Given the description of an element on the screen output the (x, y) to click on. 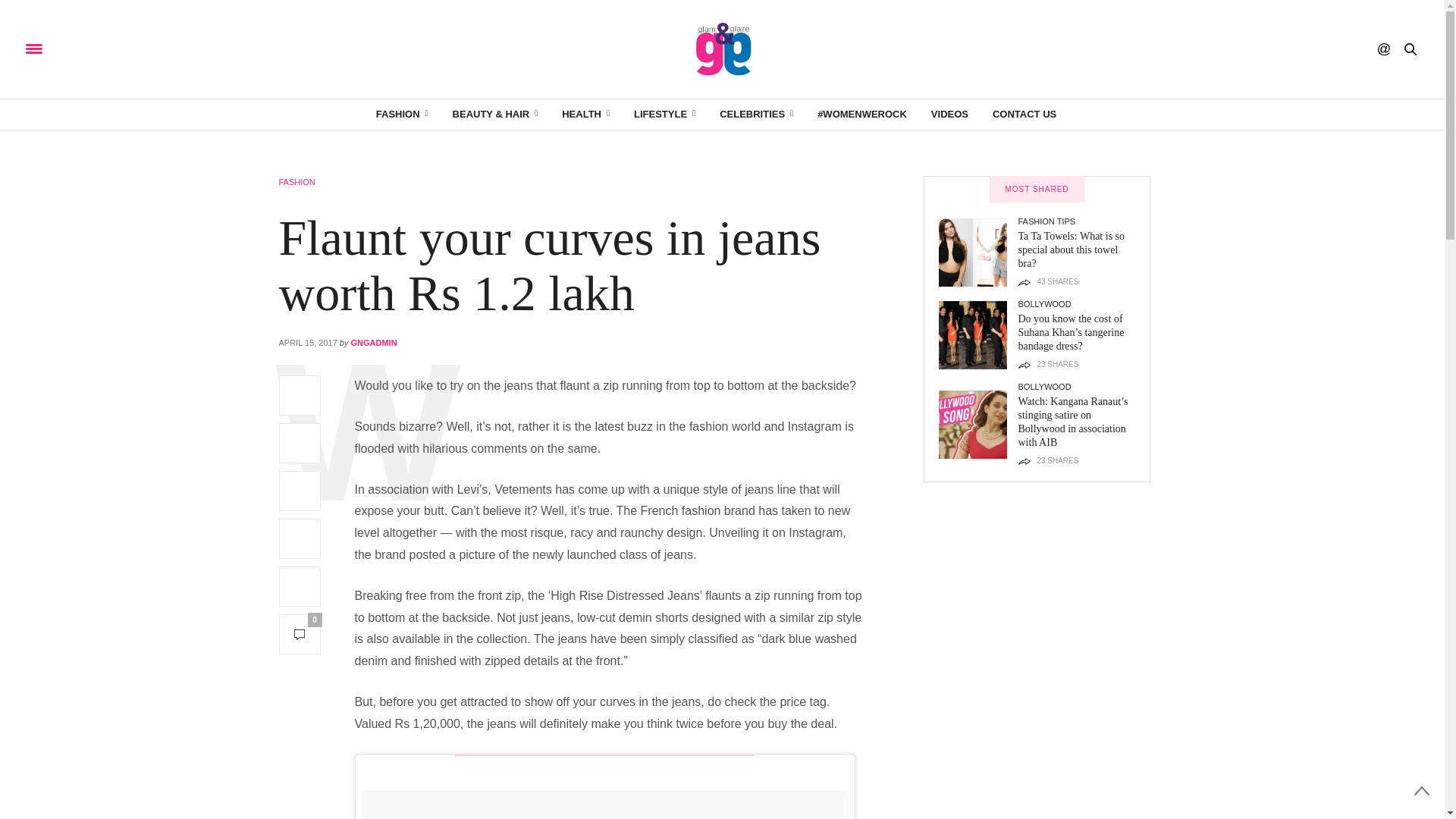
Posts by gngadmin (373, 342)
Flaunt your curves in jeans worth Rs 1.2 lakh (550, 265)
GNG Magazine (721, 49)
